Given the description of an element on the screen output the (x, y) to click on. 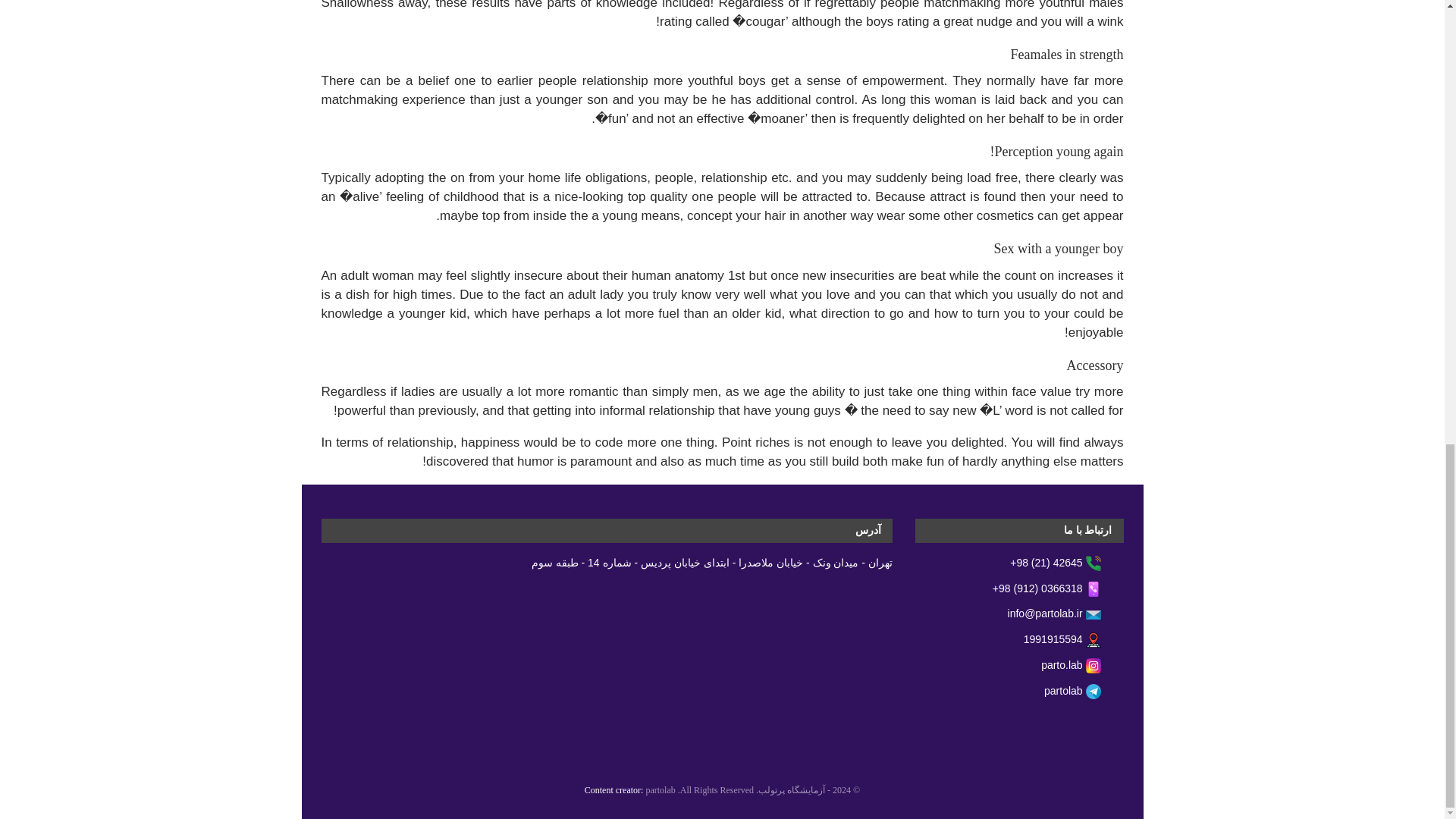
parto.lab (1081, 665)
